Given the description of an element on the screen output the (x, y) to click on. 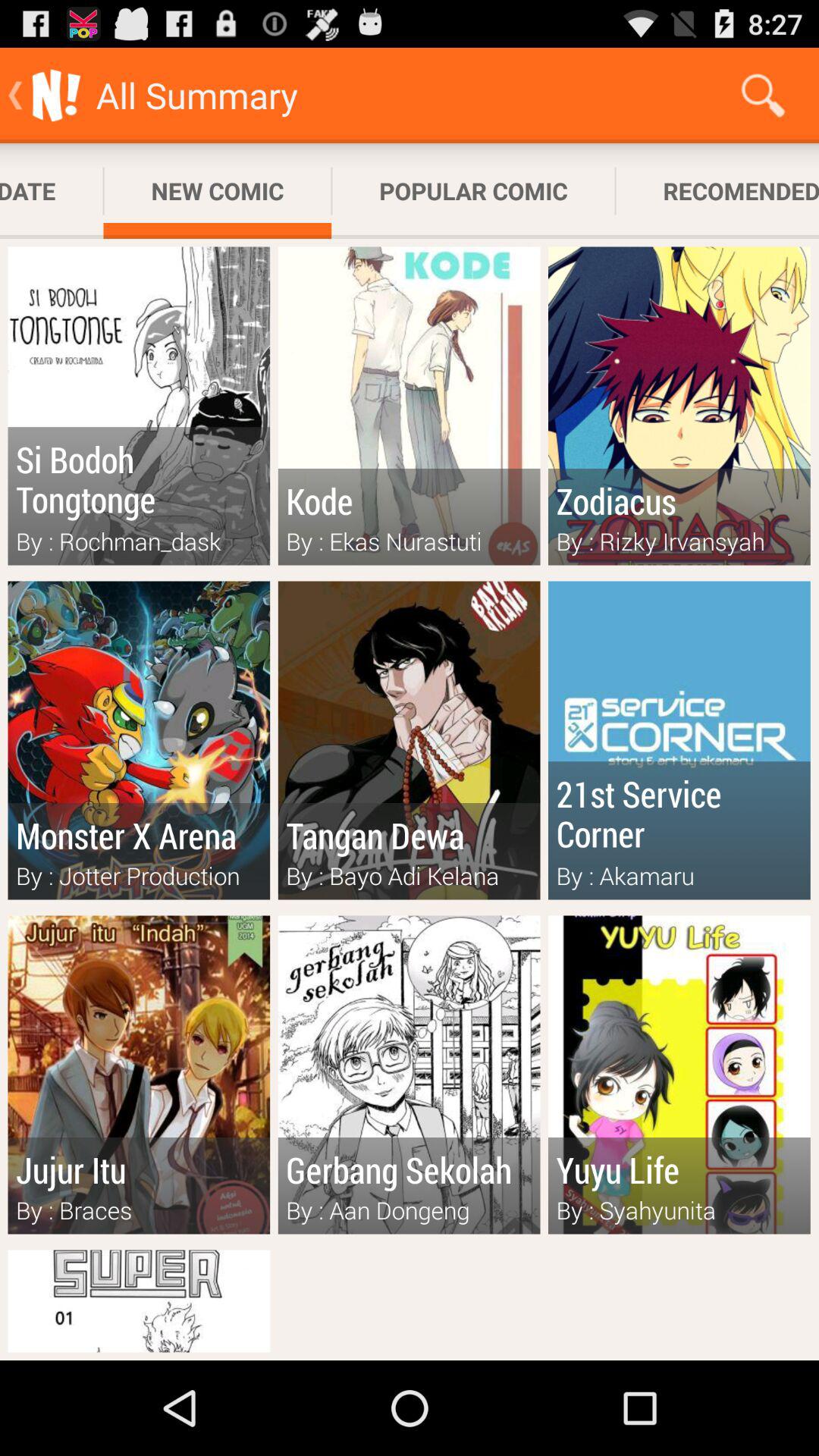
select the new comic (217, 190)
